Given the description of an element on the screen output the (x, y) to click on. 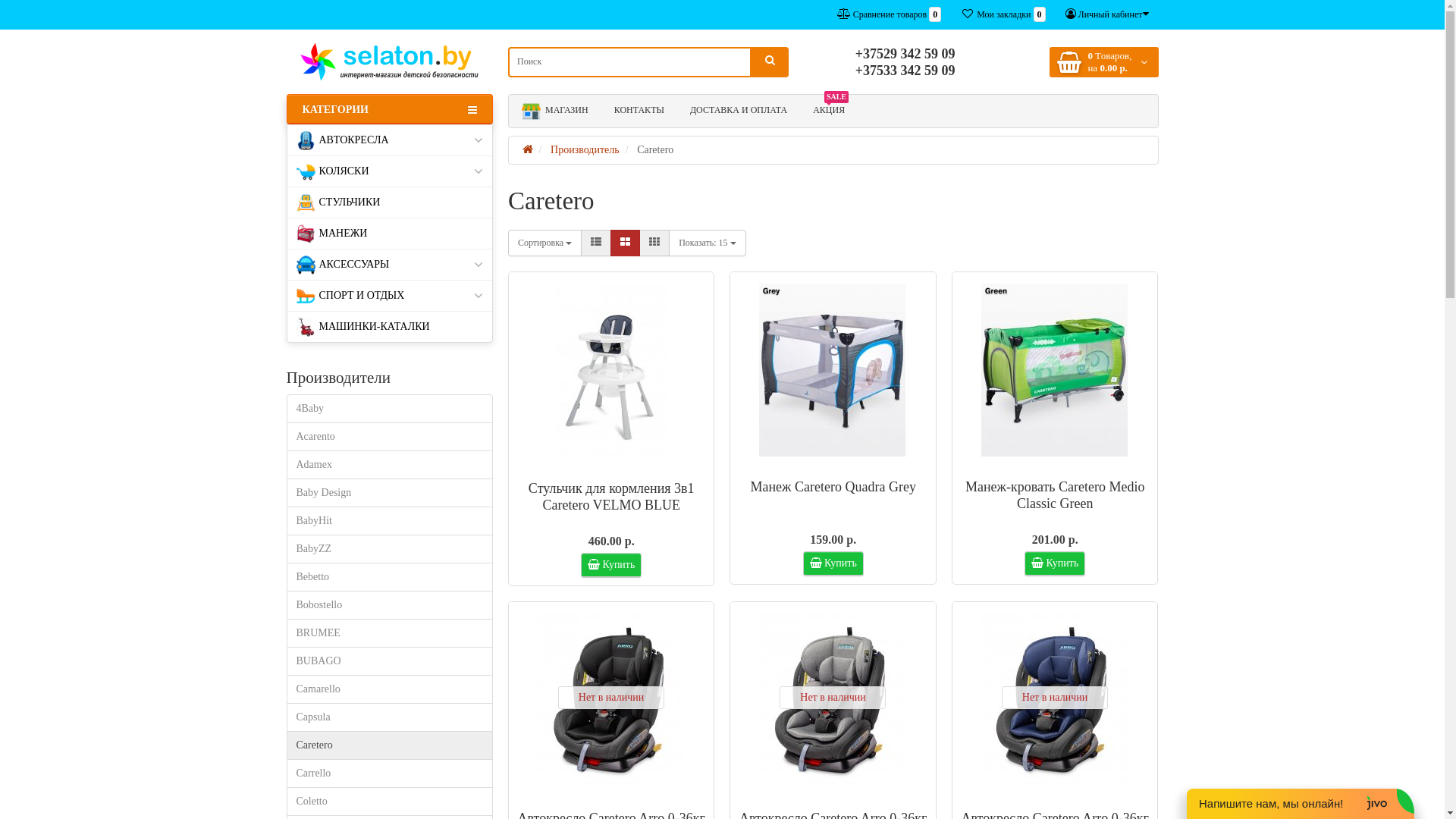
Adamex Element type: text (389, 464)
Coletto Element type: text (389, 801)
4Baby Element type: text (389, 408)
Capsula Element type: text (389, 716)
BabyHit Element type: text (389, 520)
BabyZZ Element type: text (389, 548)
Bobostello Element type: text (389, 604)
+37533 342 59 09 Element type: text (905, 70)
BRUMEE Element type: text (389, 632)
Carrello Element type: text (389, 773)
Acarento Element type: text (389, 436)
+37529 342 59 09 Element type: text (905, 53)
Bebetto Element type: text (389, 576)
BUBAGO Element type: text (389, 660)
Camarello Element type: text (389, 688)
Baby Design Element type: text (389, 492)
Caretero Element type: text (389, 745)
